Given the description of an element on the screen output the (x, y) to click on. 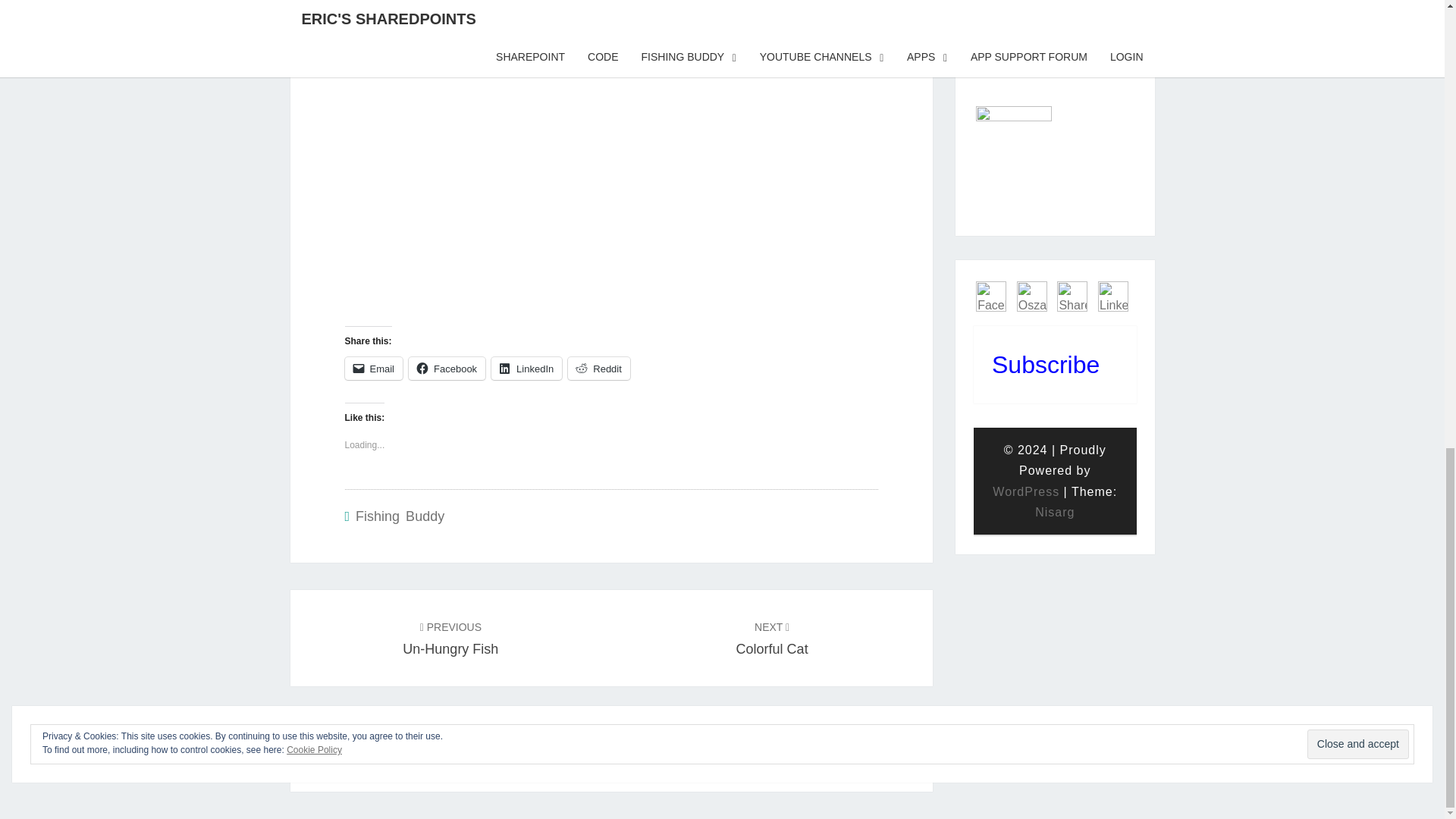
Reddit (772, 638)
LinkedIn (598, 368)
SharePoint Eric (527, 368)
Subscribe (1072, 296)
Oszak Fishing (1045, 364)
WordPress (1031, 296)
LinkedIn (1025, 491)
Click to email a link to a friend (1112, 296)
Facebook (373, 368)
Email (446, 368)
Fishing Buddy (373, 368)
Facebook (399, 516)
Click to share on LinkedIn (990, 296)
Click to share on Facebook (527, 368)
